Given the description of an element on the screen output the (x, y) to click on. 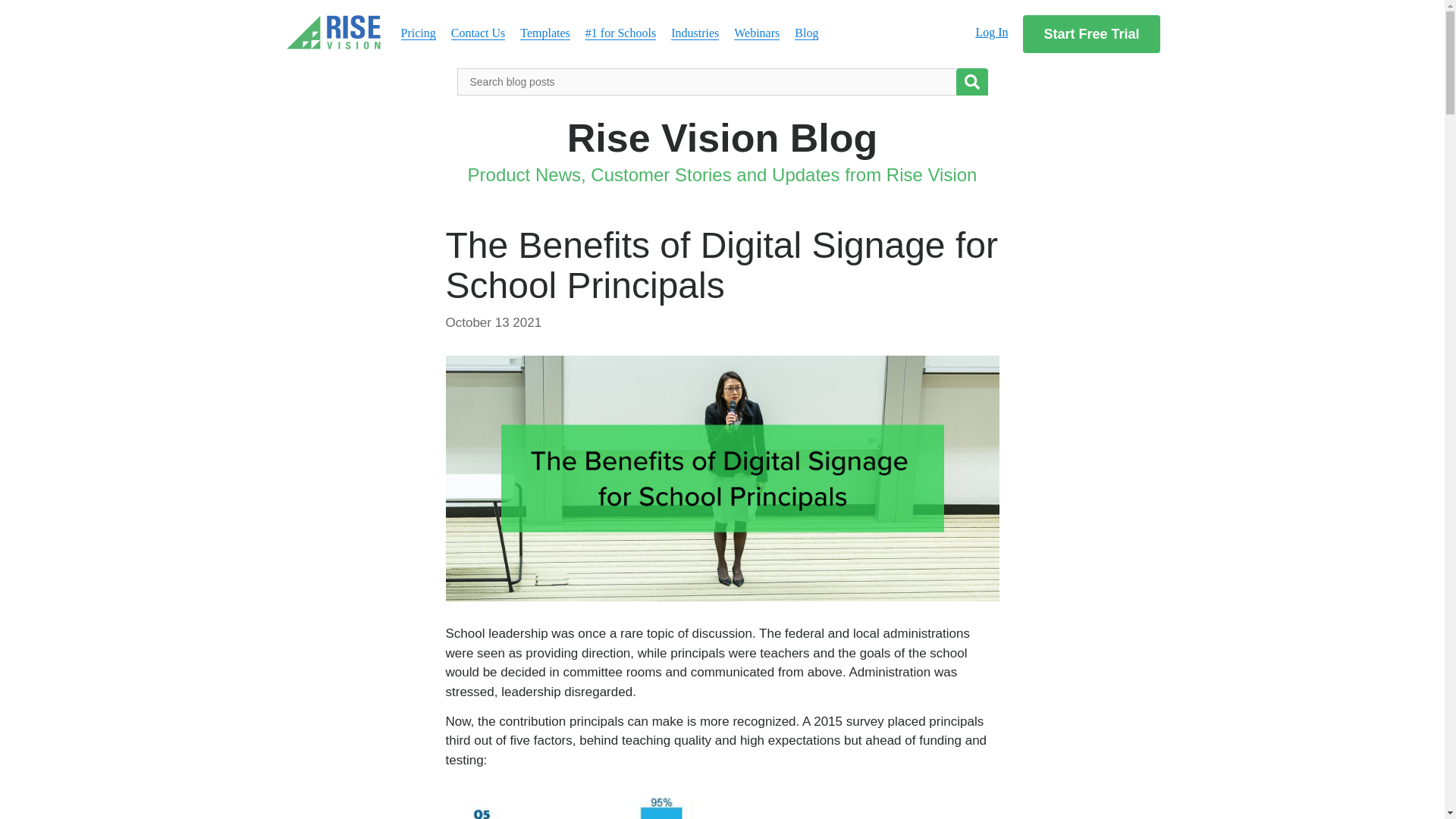
Pricing (417, 33)
Webinars (755, 33)
Contact Us (478, 33)
bar chart showing quality of teachers and principles (721, 800)
Start Free Trial (1090, 34)
Blog (806, 33)
rise-logo-1 (333, 32)
Log In (991, 31)
Templates (544, 33)
Start Free Trial (1090, 34)
Industries (695, 33)
